Given the description of an element on the screen output the (x, y) to click on. 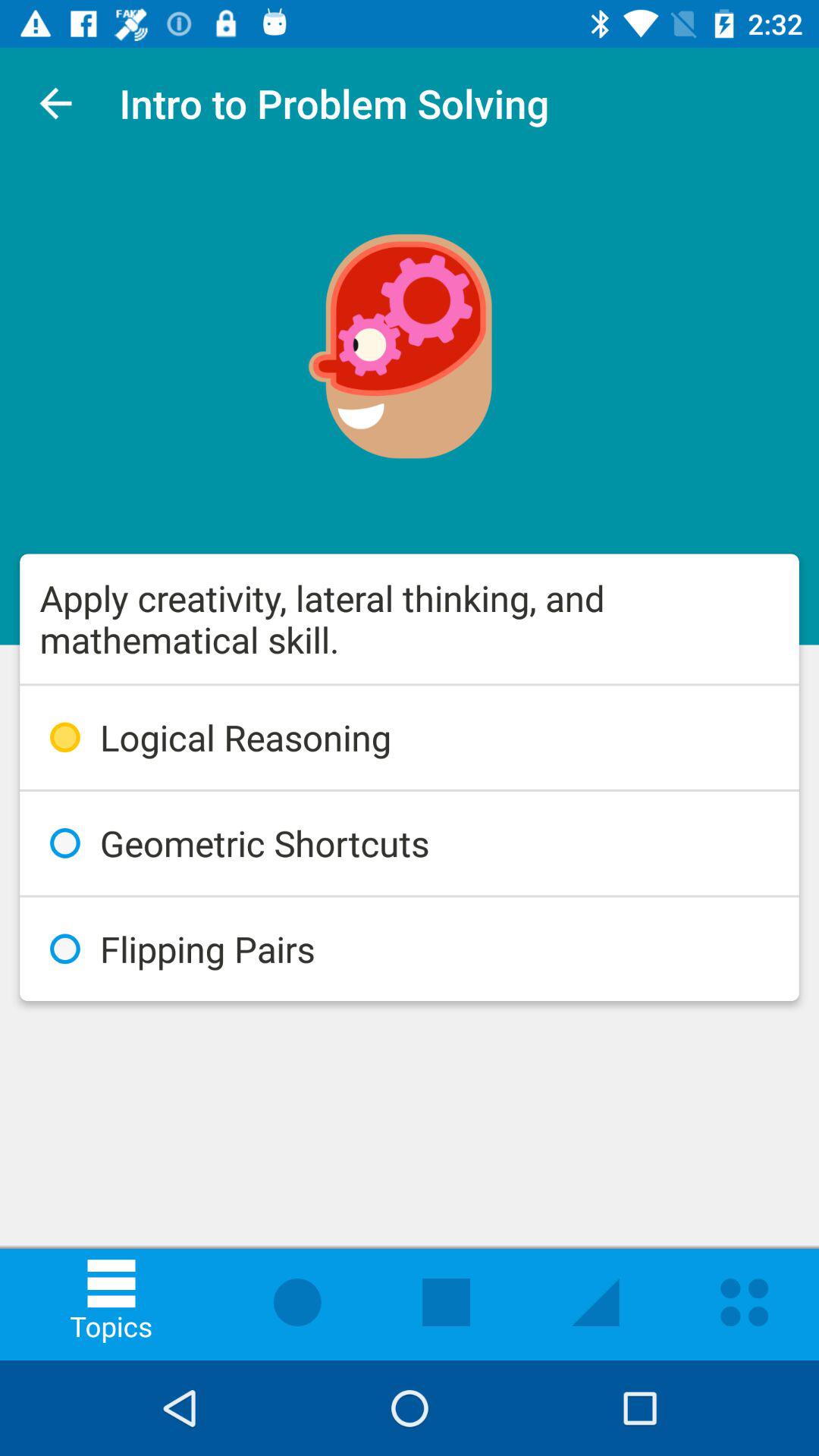
select the icon at the top left corner (55, 103)
